Given the description of an element on the screen output the (x, y) to click on. 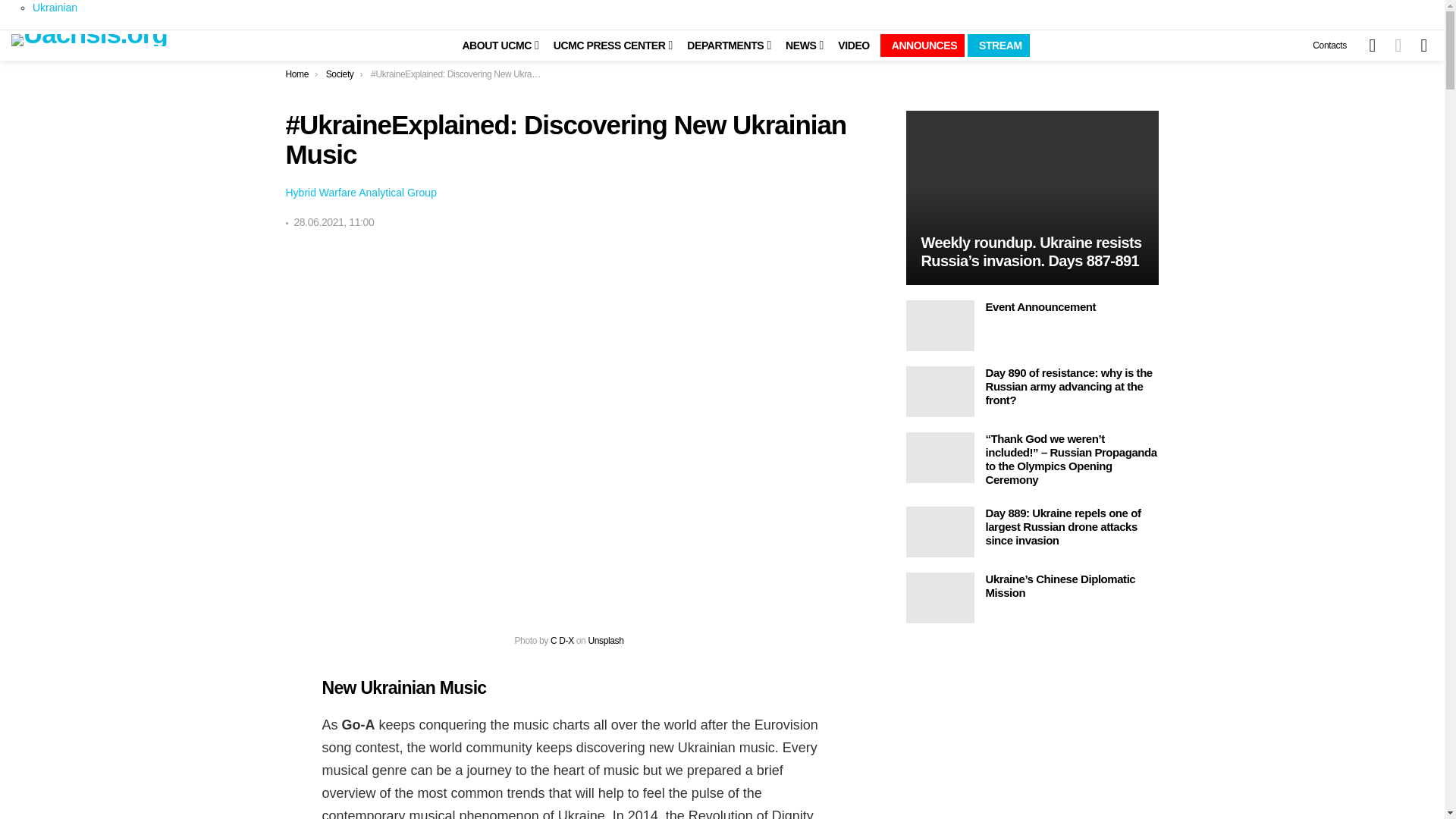
DEPARTMENTS (723, 45)
Follow us (1371, 45)
ABOUT UCMC (493, 45)
Event Announcement (939, 325)
Ukrainian (54, 7)
UCMC PRESS CENTER (606, 45)
NEWS (799, 45)
